Given the description of an element on the screen output the (x, y) to click on. 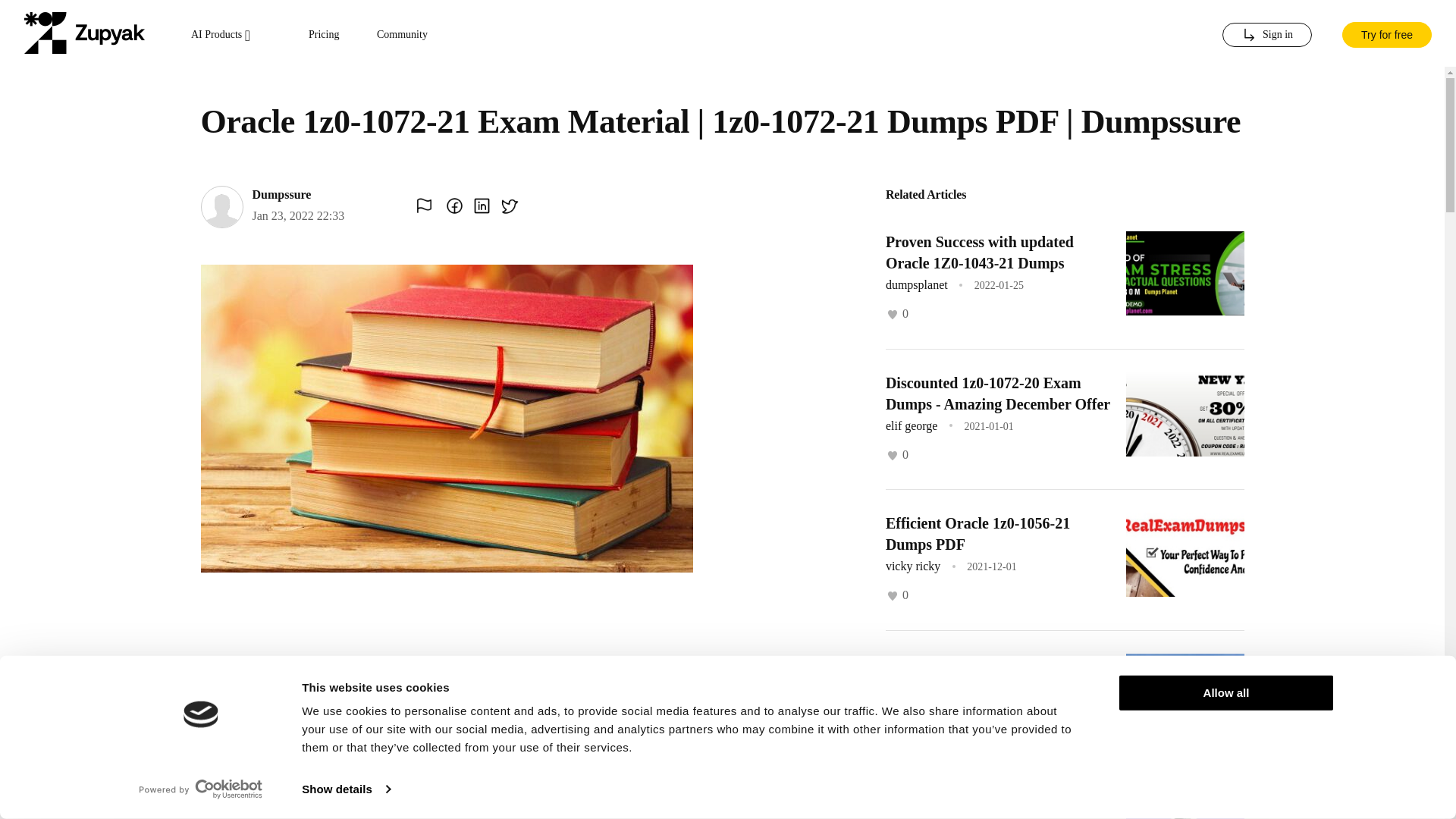
Most Updated 1z0-340-21 Real Dumps Questions (984, 673)
Show details (345, 789)
Efficient Oracle 1z0-1056-21 Dumps PDF  (977, 533)
How To Get Best Oracle 1z0-1072-20 Dumps Study Material? (996, 807)
Proven Success with updated Oracle 1Z0-1043-21 Dumps (979, 252)
